Given the description of an element on the screen output the (x, y) to click on. 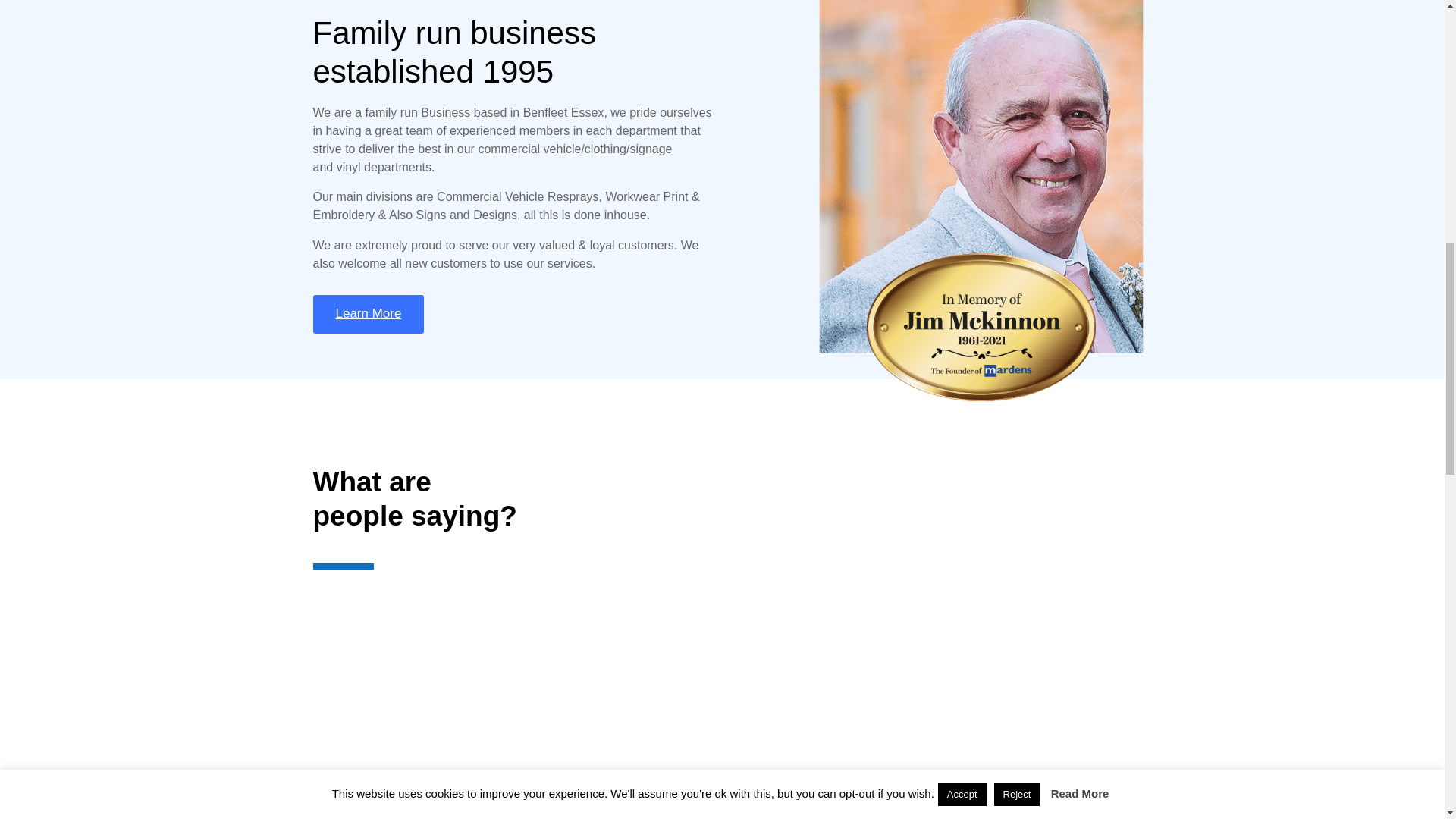
Jim Mckinnon (945, 161)
Learn More (368, 313)
